Given the description of an element on the screen output the (x, y) to click on. 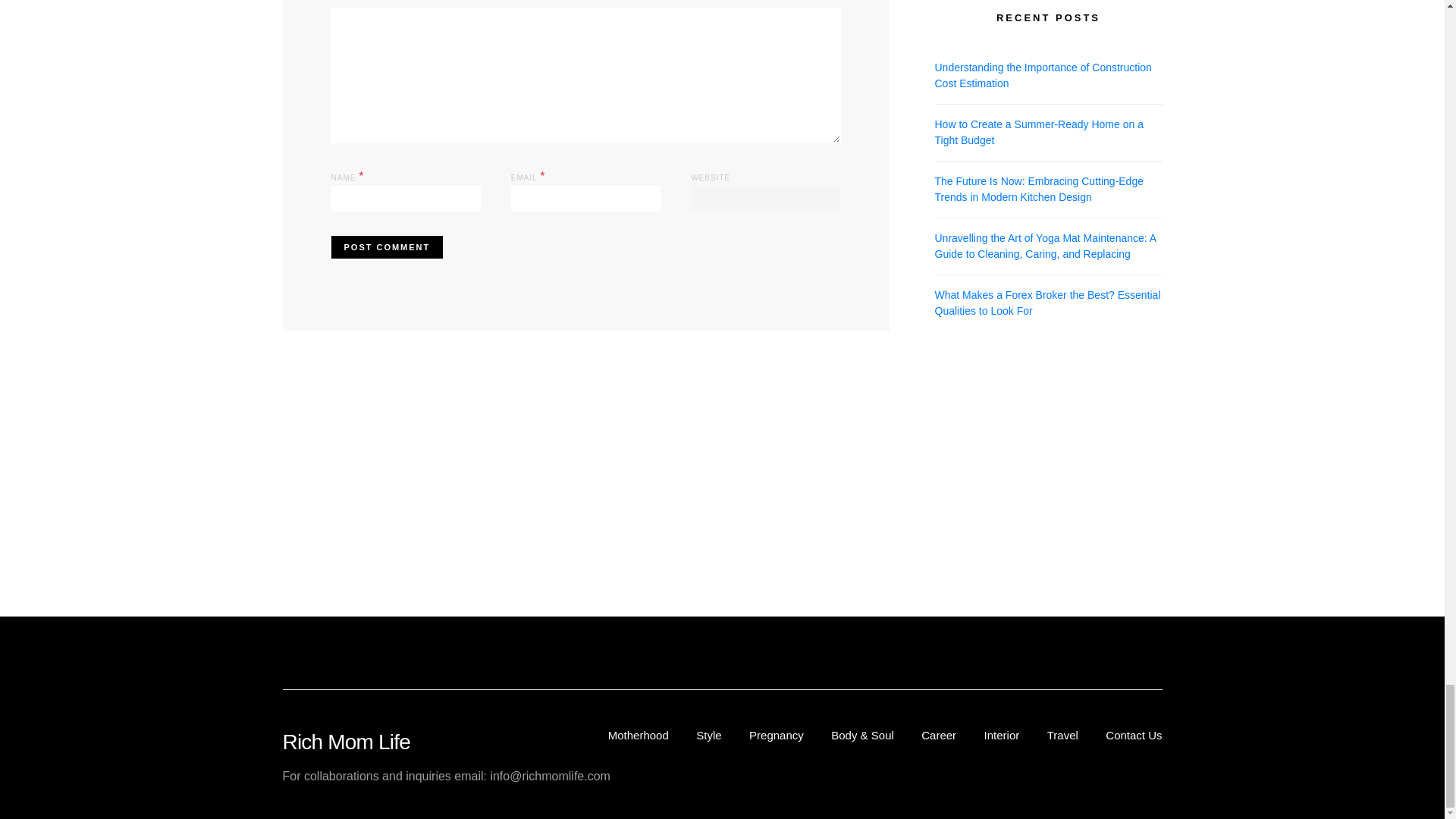
Post Comment (386, 247)
